Given the description of an element on the screen output the (x, y) to click on. 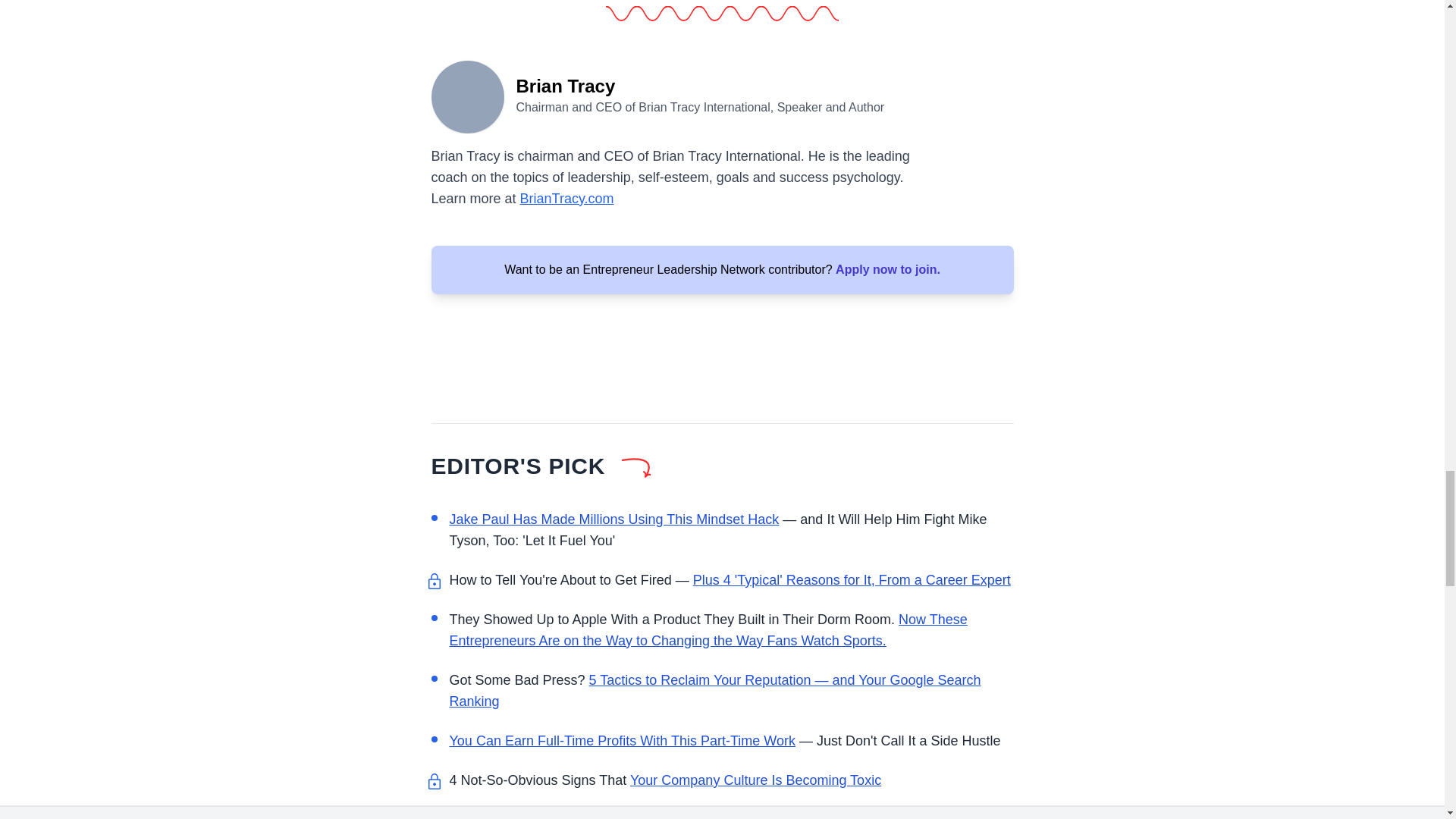
Brian Tracy (466, 95)
